Given the description of an element on the screen output the (x, y) to click on. 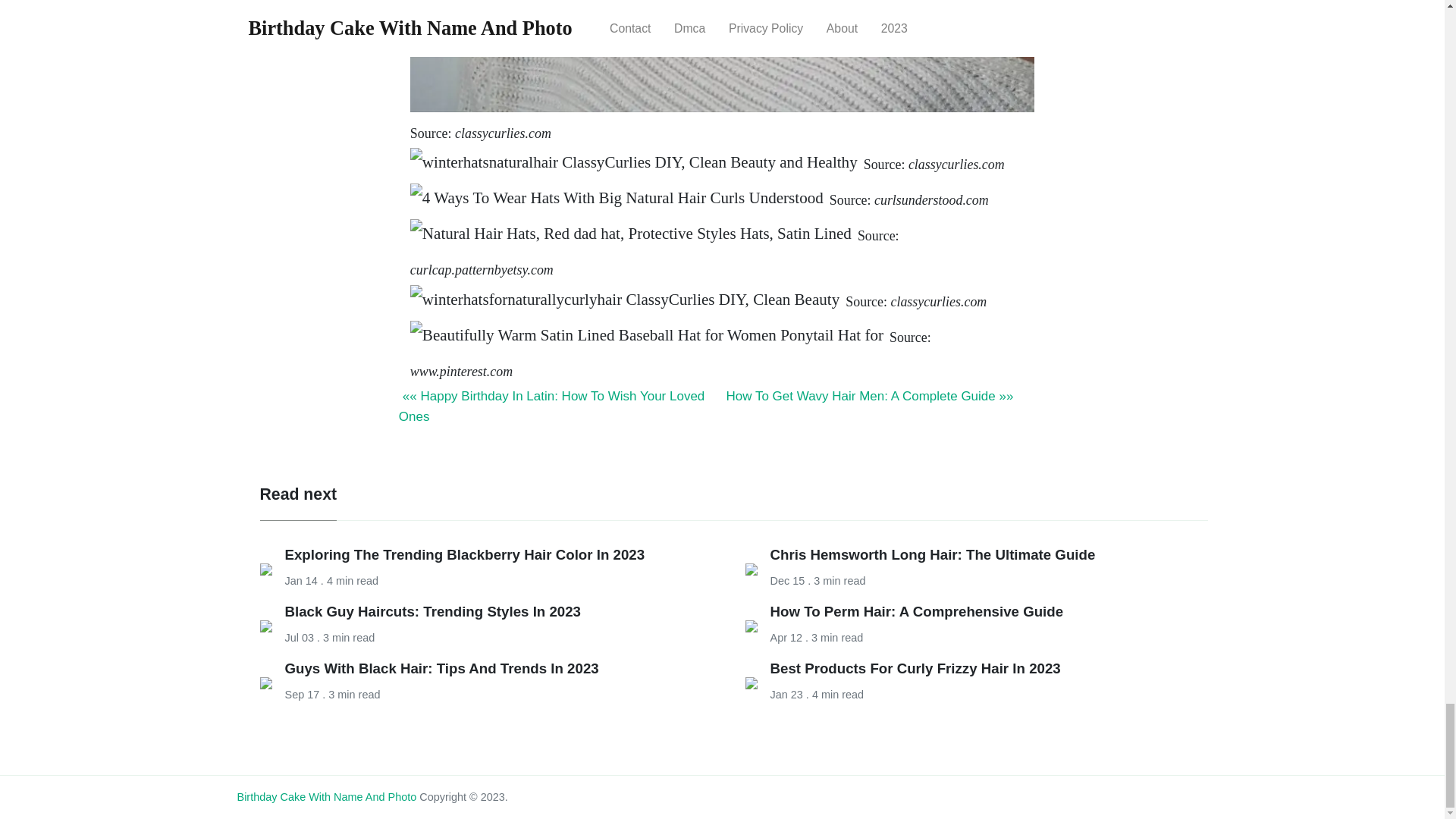
Guys With Black Hair: Tips And Trends In 2023 (441, 668)
Black Guy Haircuts: Trending Styles In 2023 (432, 611)
Chris Hemsworth Long Hair: The Ultimate Guide (933, 554)
Best Products For Curly Frizzy Hair In 2023 (915, 668)
Birthday Cake With Name And Photo (325, 797)
How To Perm Hair: A Comprehensive Guide (917, 611)
Exploring The Trending Blackberry Hair Color In 2023 (465, 554)
